Given the description of an element on the screen output the (x, y) to click on. 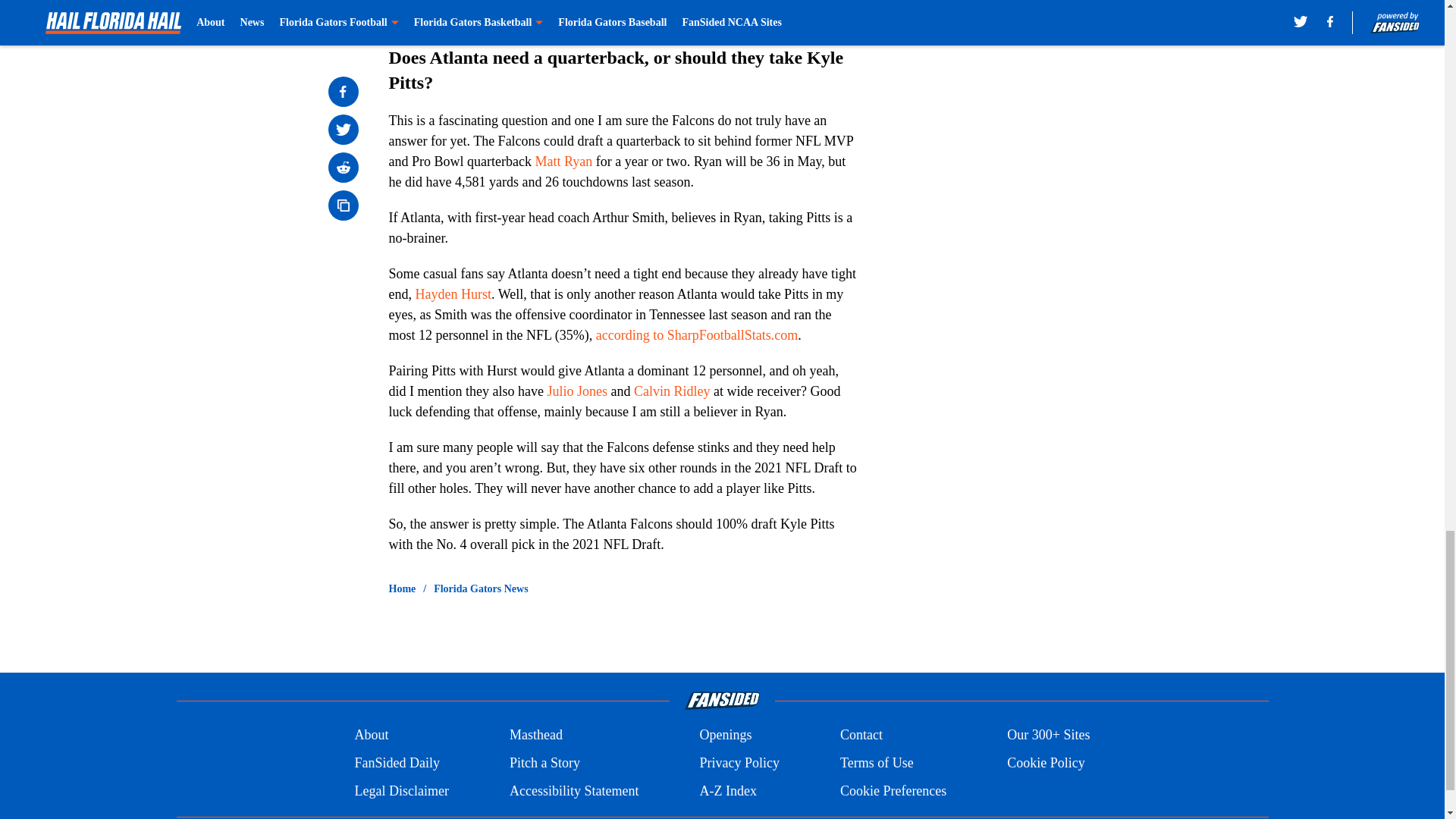
Julio Jones (577, 391)
Hayden Hurst (453, 294)
Matt Ryan (563, 160)
Calvin Ridley (671, 391)
About (370, 734)
according to SharpFootballStats.com (696, 335)
Openings (724, 734)
Contact (861, 734)
Florida Gators News (480, 589)
Home (401, 589)
